Given the description of an element on the screen output the (x, y) to click on. 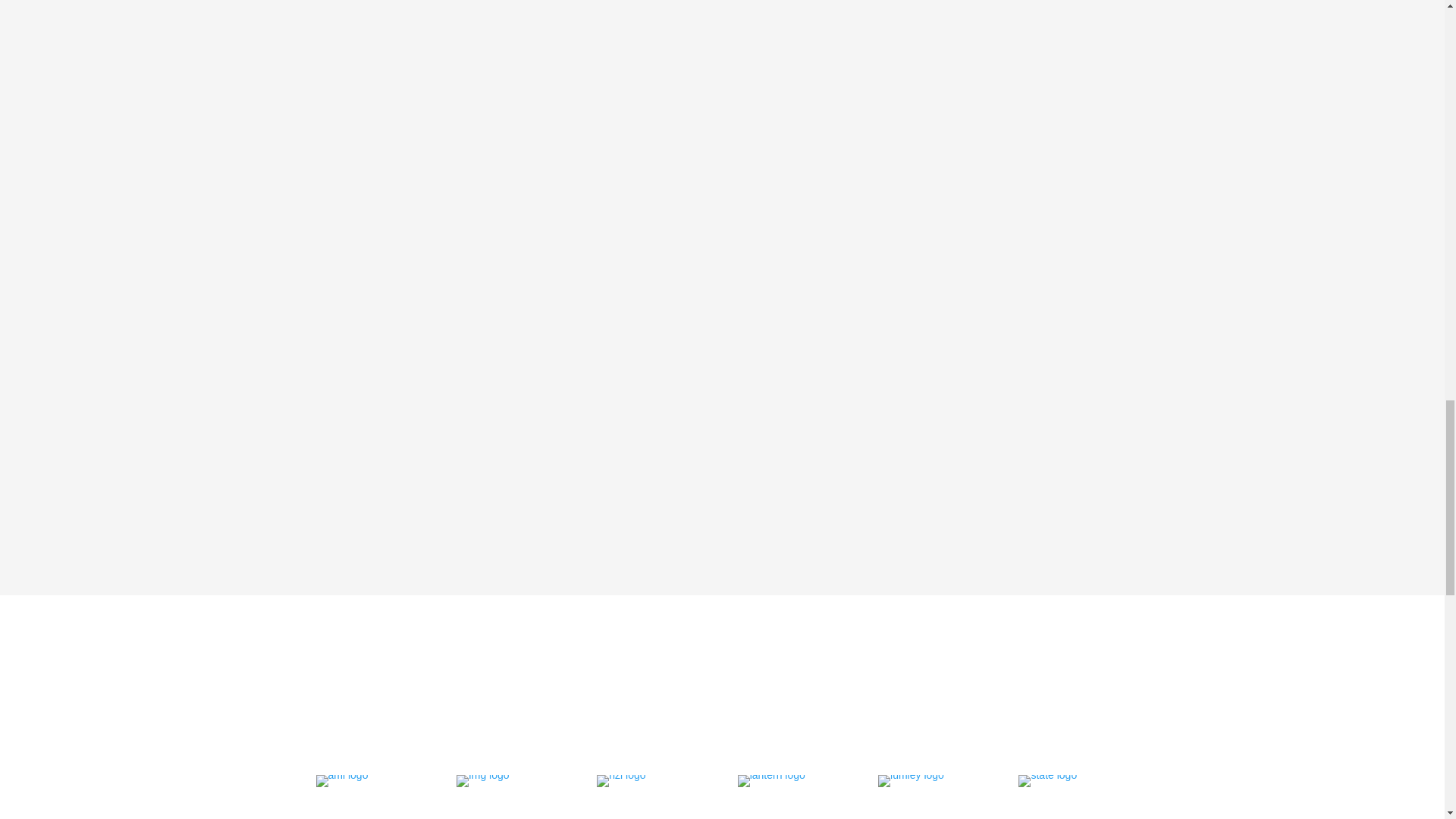
state logo (1047, 780)
lantern logo (771, 780)
ami logo (341, 780)
fmg logo (483, 780)
lumley logo (910, 780)
nzi logo (620, 780)
